Given the description of an element on the screen output the (x, y) to click on. 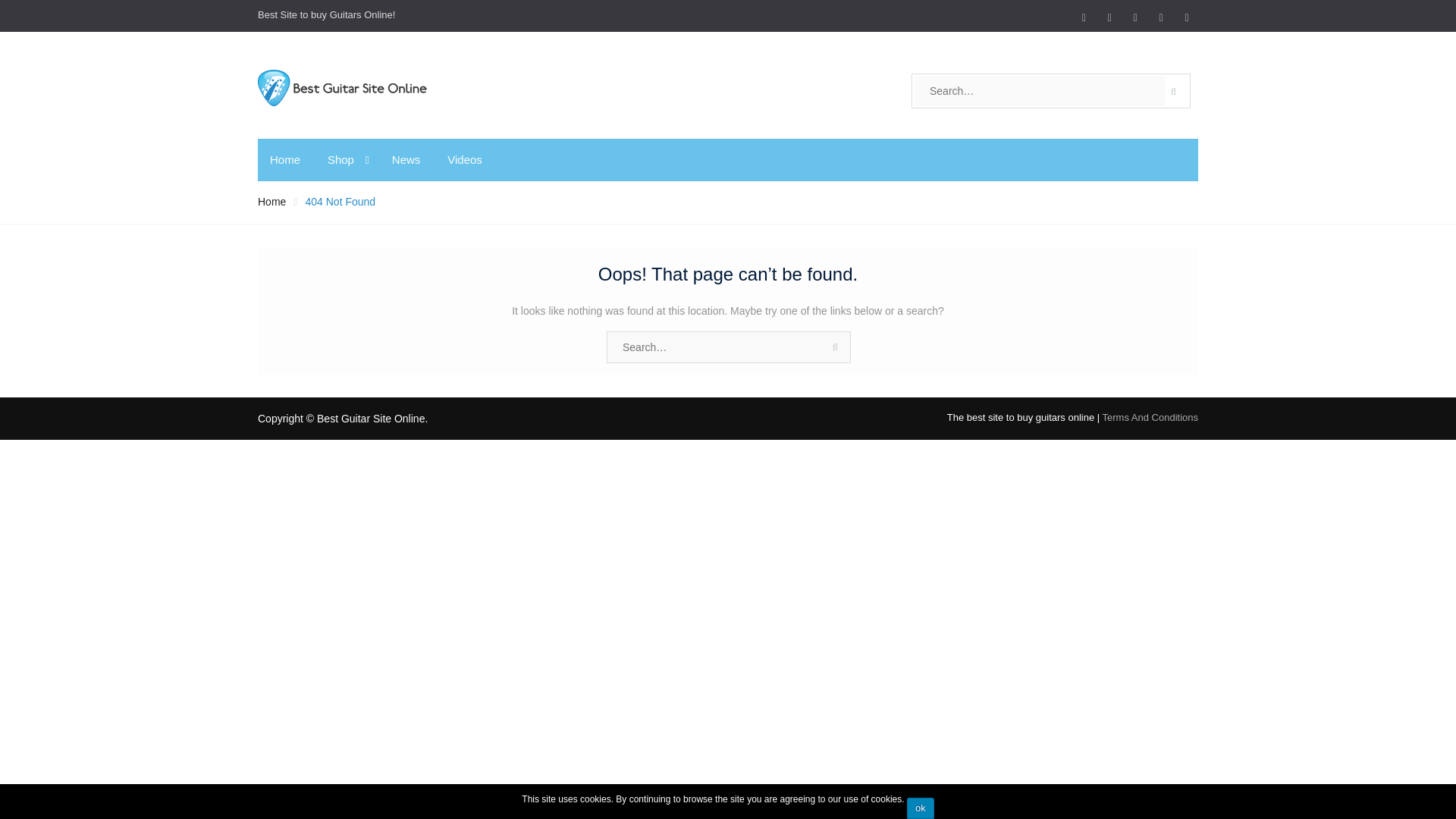
Twitter (1186, 15)
Facebook (1082, 15)
Home (285, 159)
Google plus (1161, 15)
Pinterest (1109, 15)
Instagram (1135, 15)
Search for: (728, 347)
Shop (346, 159)
Search for: (1039, 91)
